Given the description of an element on the screen output the (x, y) to click on. 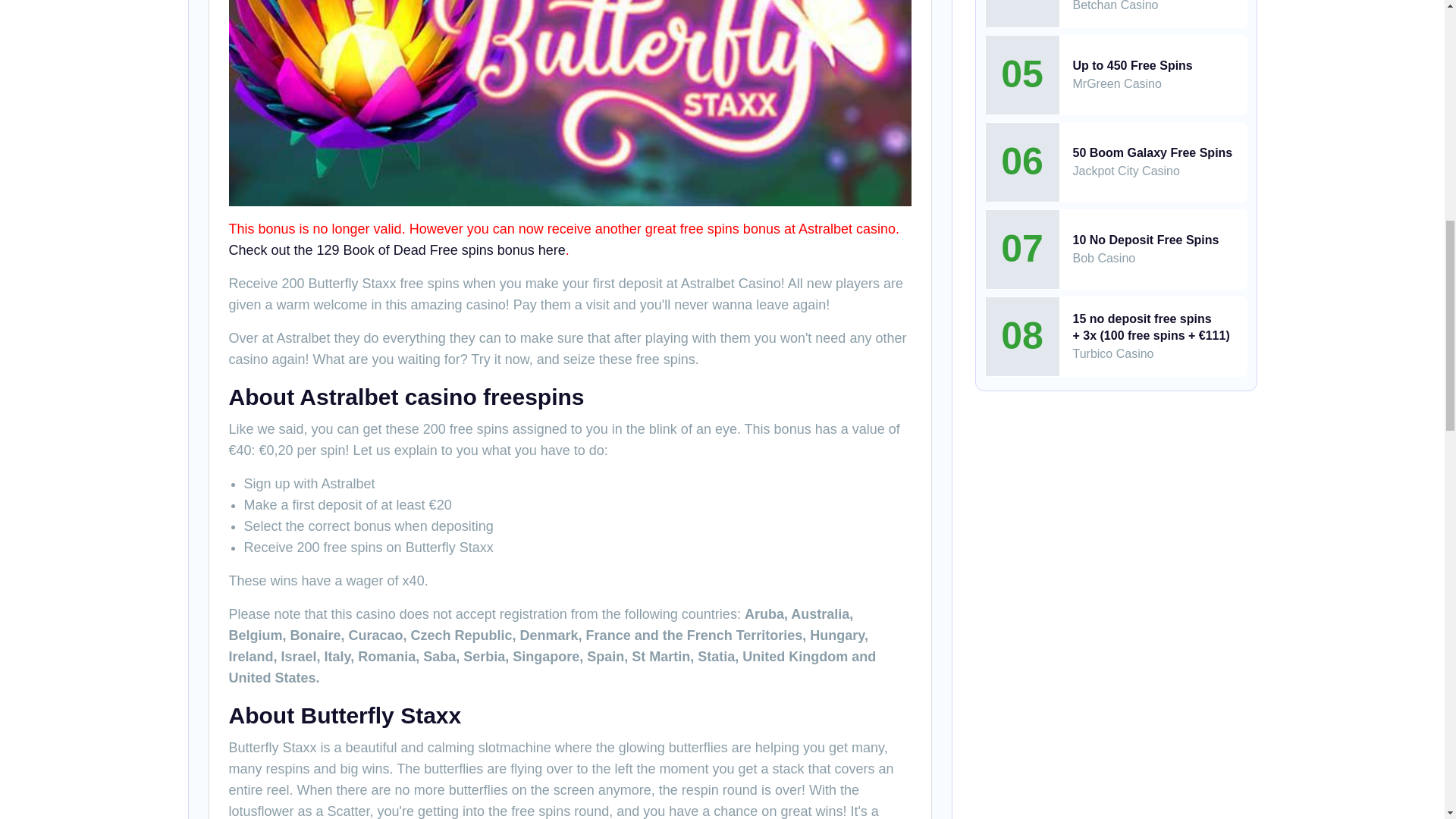
50 Boom Galaxy Free Spins (1151, 152)
book of dead slot (397, 249)
Up to 450 Free Spins (1131, 65)
Check out the 129 Book of Dead Free spins bonus here (397, 249)
10 No Deposit Free Spins (1144, 239)
